Given the description of an element on the screen output the (x, y) to click on. 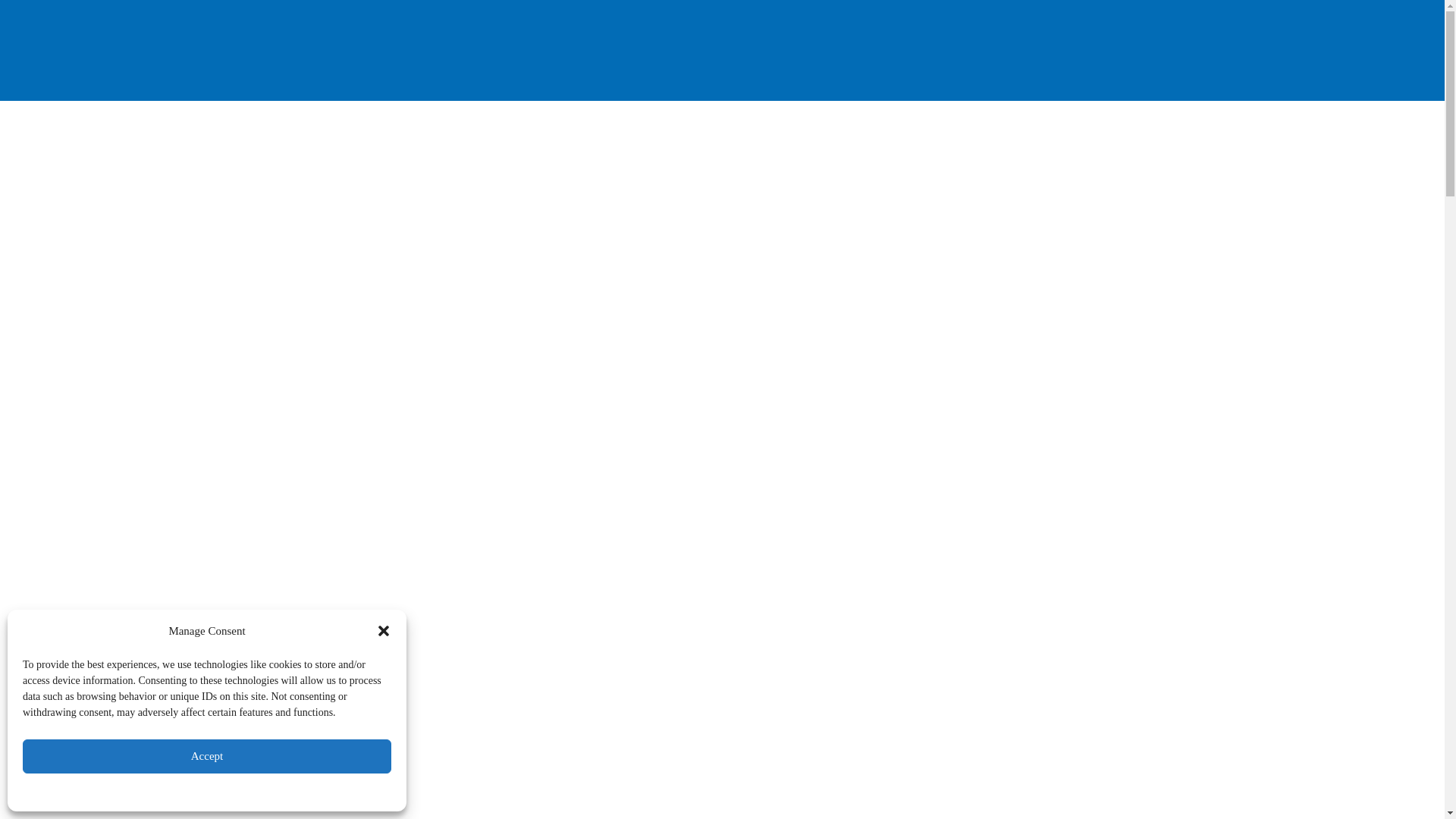
Accept (207, 756)
